Given the description of an element on the screen output the (x, y) to click on. 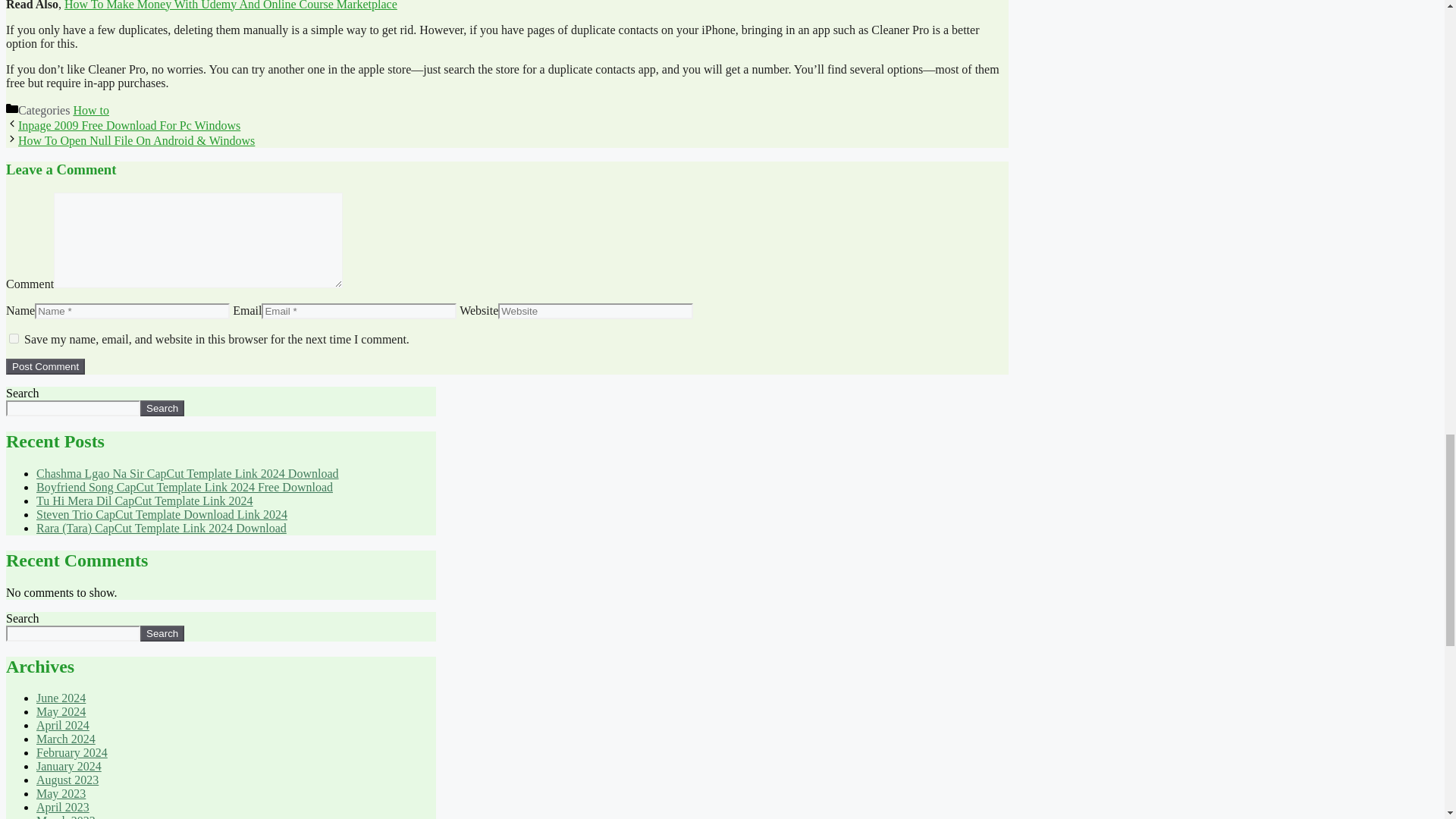
yes (13, 338)
Post Comment (44, 366)
How To Make Money With Udemy And Online Course Marketplace (230, 5)
How to (90, 110)
Inpage 2009 Free Download For Pc Windows (128, 124)
